Given the description of an element on the screen output the (x, y) to click on. 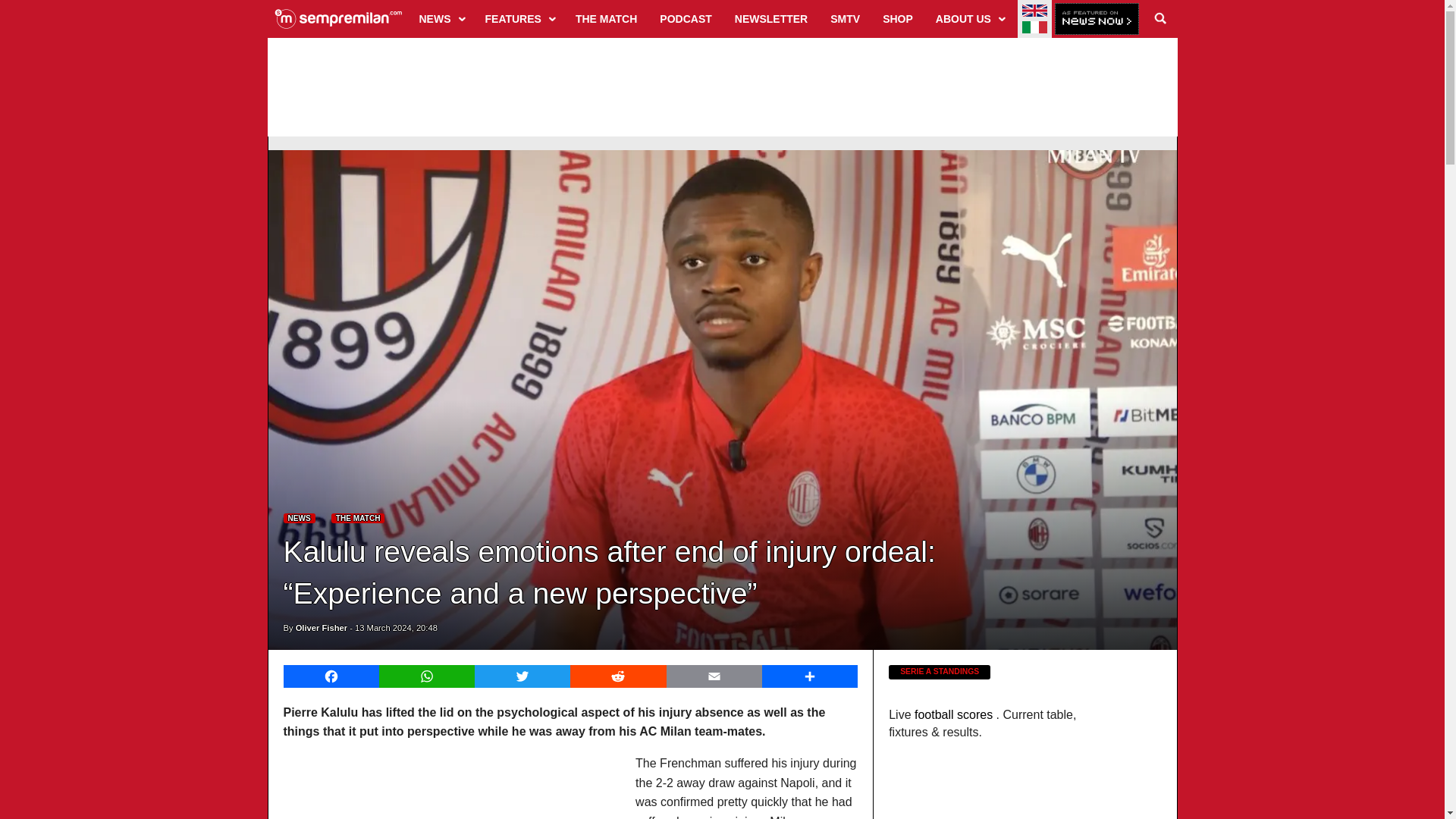
FEATURES (518, 18)
Facebook (330, 676)
Currently viewing our English language site (1034, 10)
Twitter (522, 676)
HOME (338, 18)
NEWS (440, 18)
SHOP (897, 18)
ABOUT US (968, 18)
Reddit (617, 676)
Latest News News (299, 518)
NEWSLETTER (770, 18)
THE MATCH (605, 18)
WhatsApp (426, 676)
SMTV (844, 18)
Latest The Match News (358, 518)
